Given the description of an element on the screen output the (x, y) to click on. 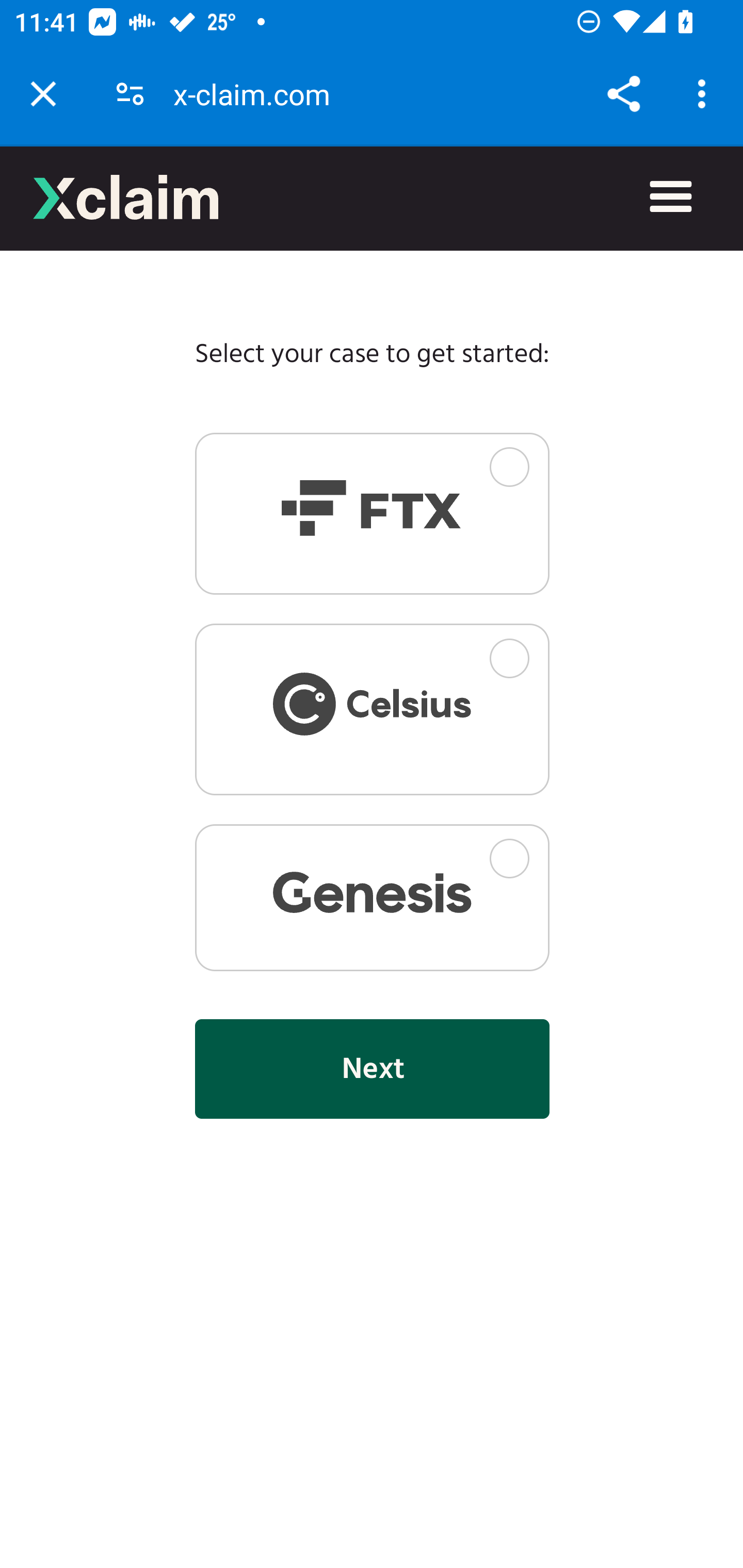
Close tab (43, 93)
Share (623, 93)
Customize and control Google Chrome (705, 93)
Connection is secure (129, 93)
x-claim.com (258, 93)
menu (670, 197)
Xclaim (126, 197)
Next (371, 1068)
